Given the description of an element on the screen output the (x, y) to click on. 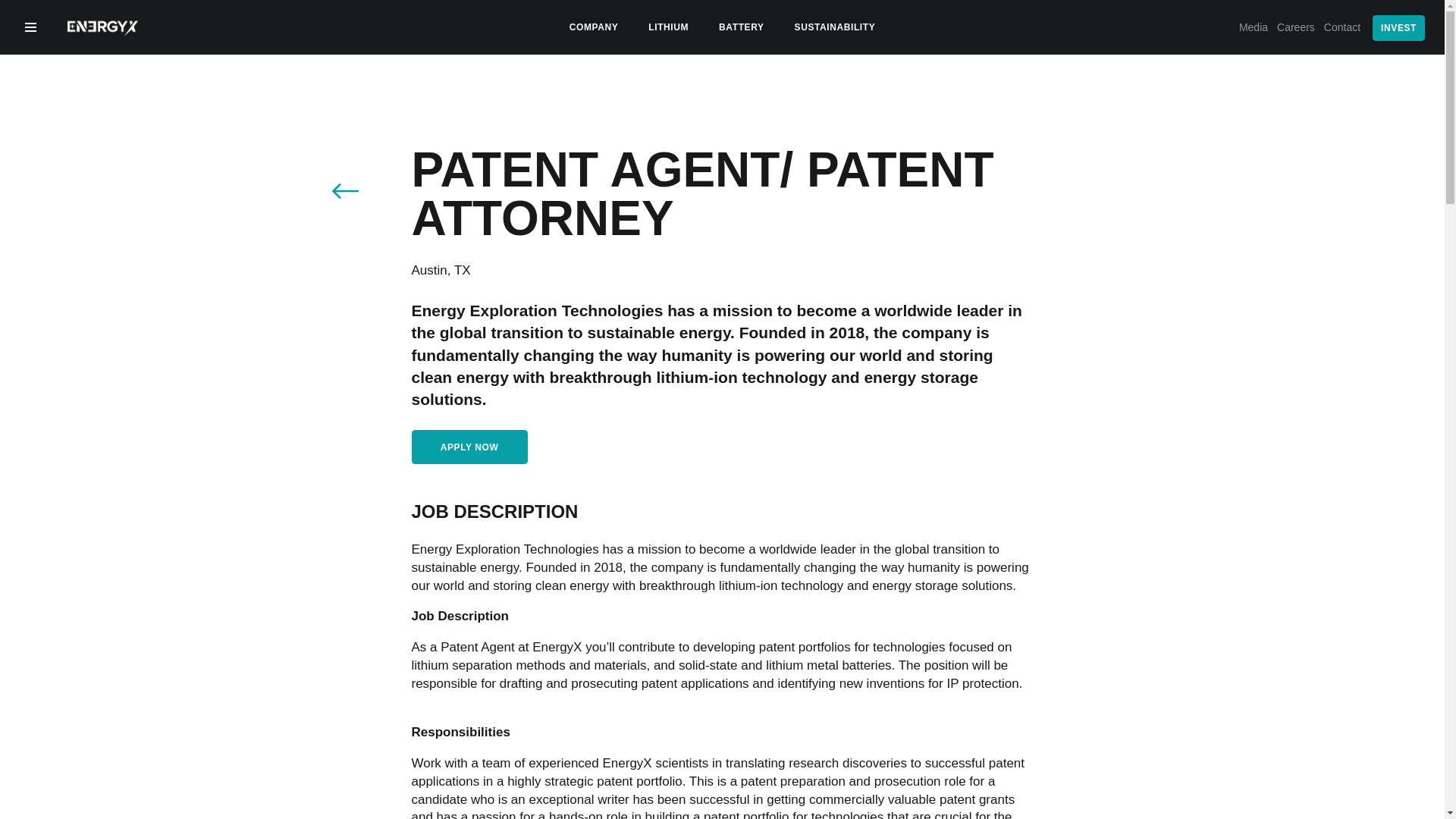
BATTERY (741, 27)
Contact (1342, 27)
Media (1253, 27)
LITHIUM (668, 27)
Careers (1295, 27)
COMPANY (593, 27)
INVEST (1399, 27)
SUSTAINABILITY (835, 27)
